Given the description of an element on the screen output the (x, y) to click on. 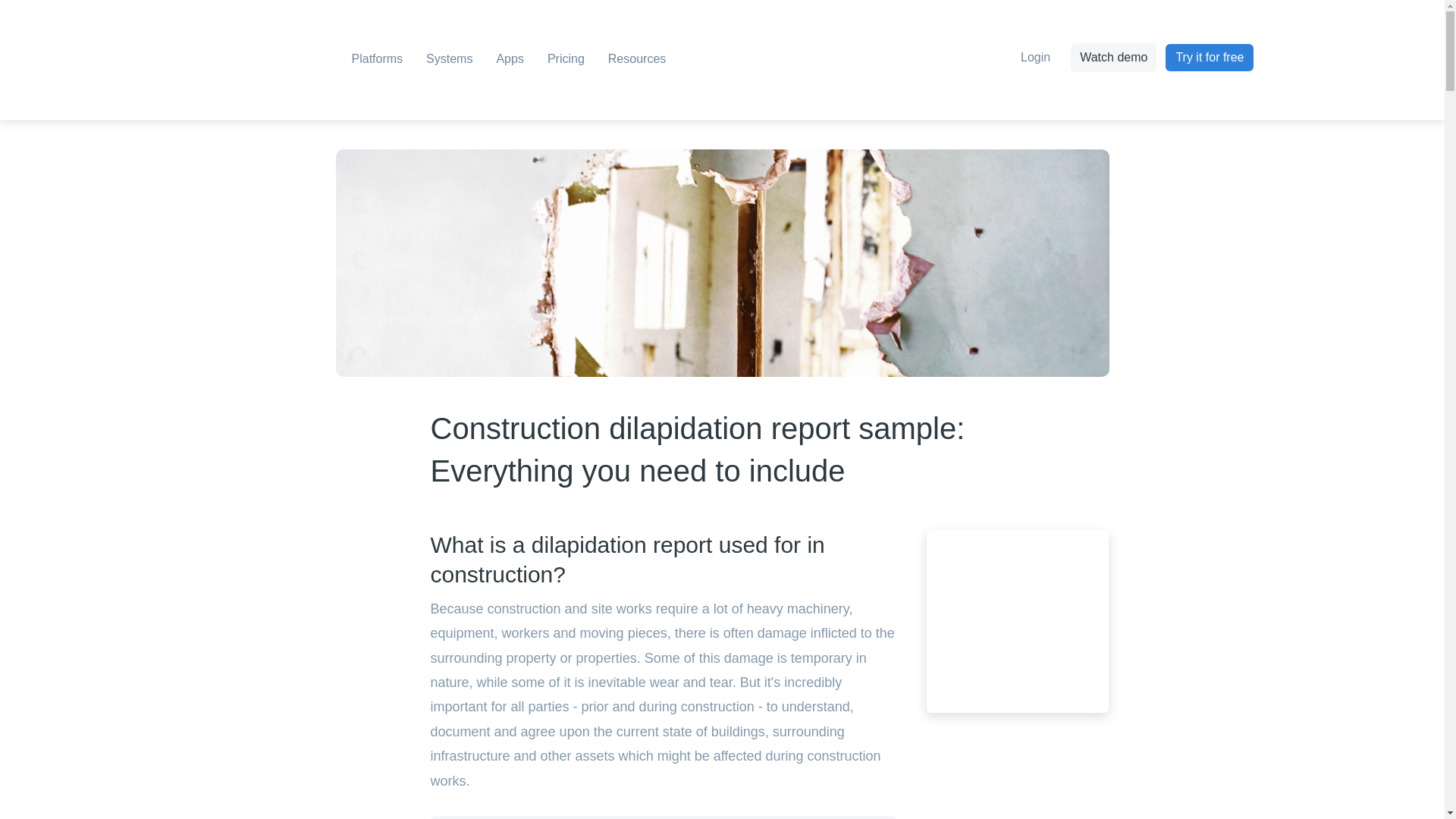
Sitemate templates (1017, 620)
Apps (509, 61)
Platforms (376, 61)
Systems (448, 61)
